Given the description of an element on the screen output the (x, y) to click on. 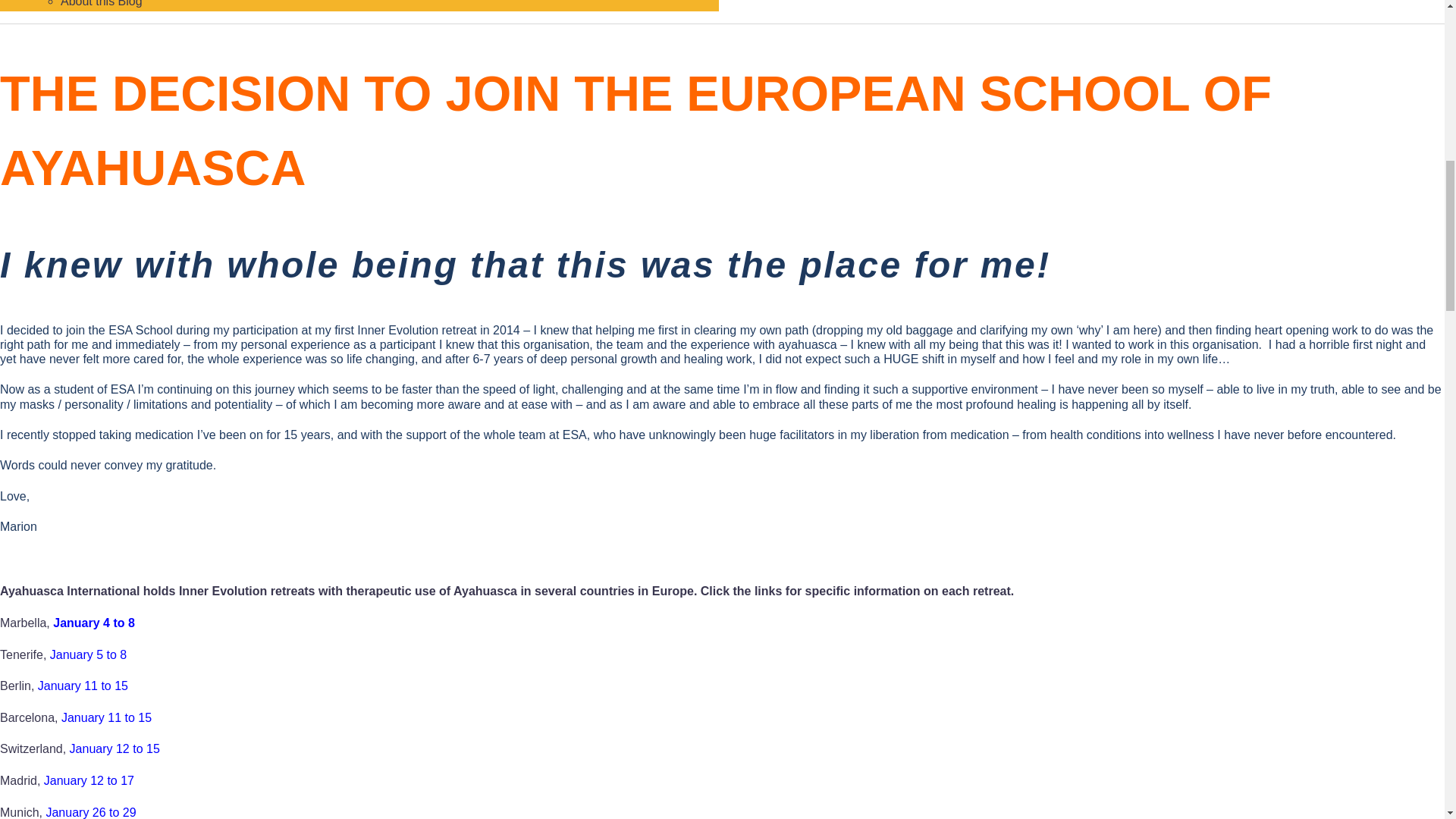
January 4 to 8 (93, 622)
January 12 to 15 (114, 748)
January 11 to 15 (106, 717)
January 26 to 29 (90, 812)
January 5 to 8 (87, 654)
January 11 to 15 (82, 685)
About this Blog (101, 3)
January 12 to 17 (88, 780)
